Given the description of an element on the screen output the (x, y) to click on. 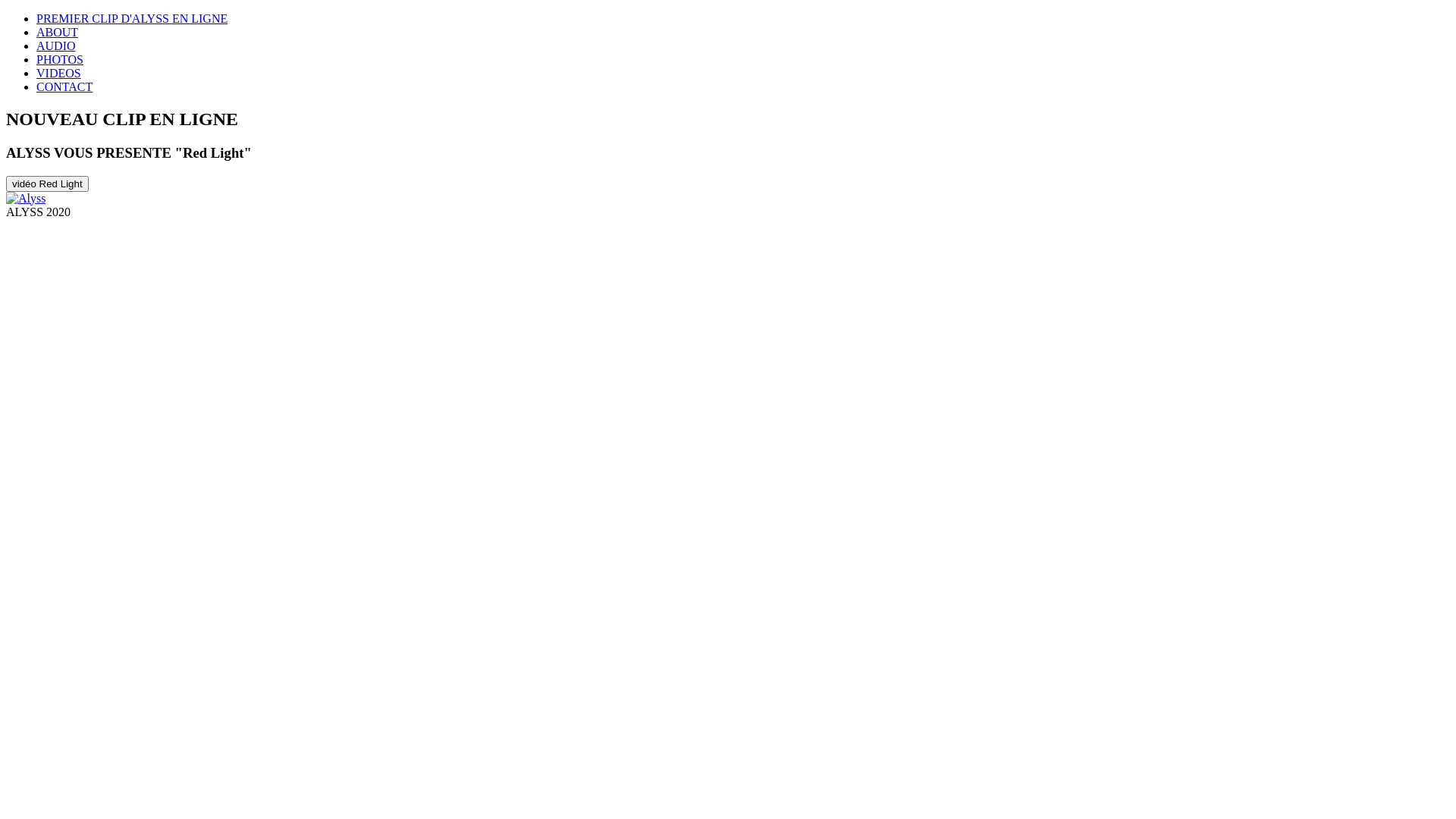
AUDIO Element type: text (55, 45)
VIDEOS Element type: text (58, 72)
PHOTOS Element type: text (59, 59)
ABOUT Element type: text (57, 31)
CONTACT Element type: text (64, 86)
PREMIER CLIP D'ALYSS EN LIGNE Element type: text (131, 18)
